Given the description of an element on the screen output the (x, y) to click on. 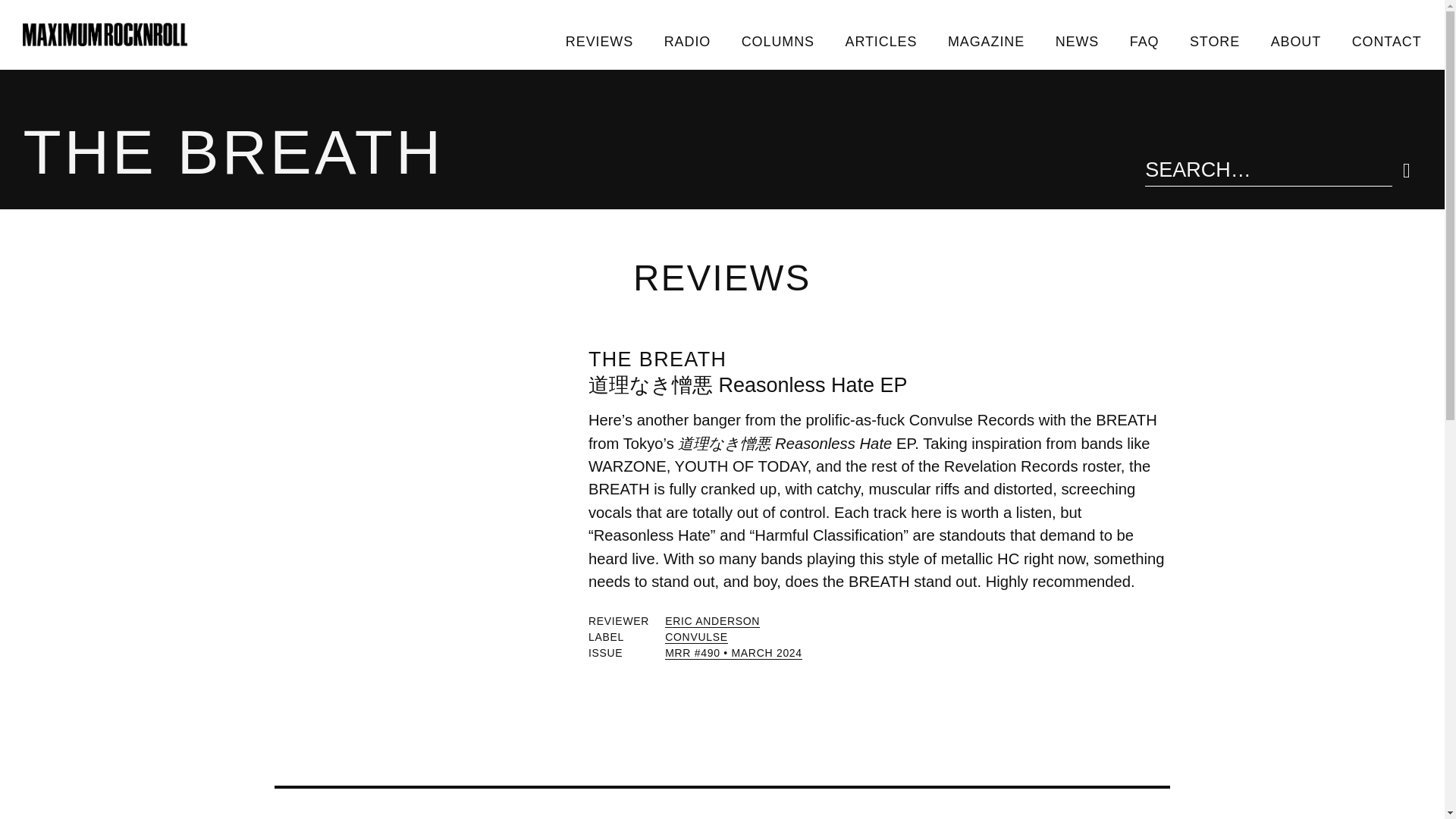
STORE (1214, 41)
ABOUT (1295, 41)
NEWS (1076, 41)
FAQ (1143, 41)
ERIC ANDERSON (712, 621)
MAGAZINE (987, 41)
THE BREATH (657, 359)
CONTACT (1385, 41)
ARTICLES (880, 41)
CONVULSE (696, 636)
